Given the description of an element on the screen output the (x, y) to click on. 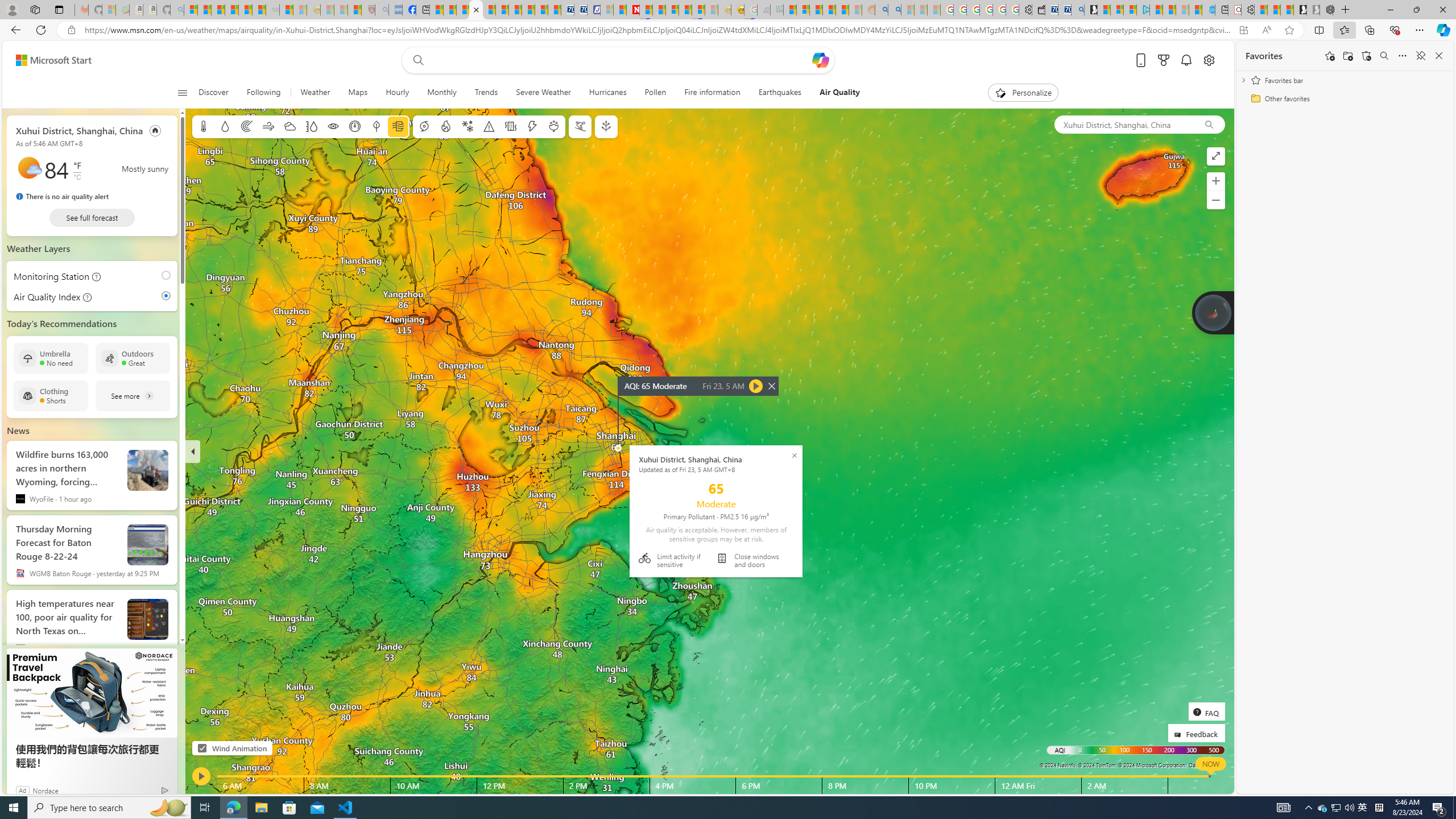
Enter your search term (619, 59)
Weather (314, 92)
Feedback (1195, 732)
Microsoft Start - Sleeping (1181, 9)
Enter full screen mode (1215, 156)
Monthly (441, 92)
Sea level pressure (355, 126)
Hourly (398, 92)
